Given the description of an element on the screen output the (x, y) to click on. 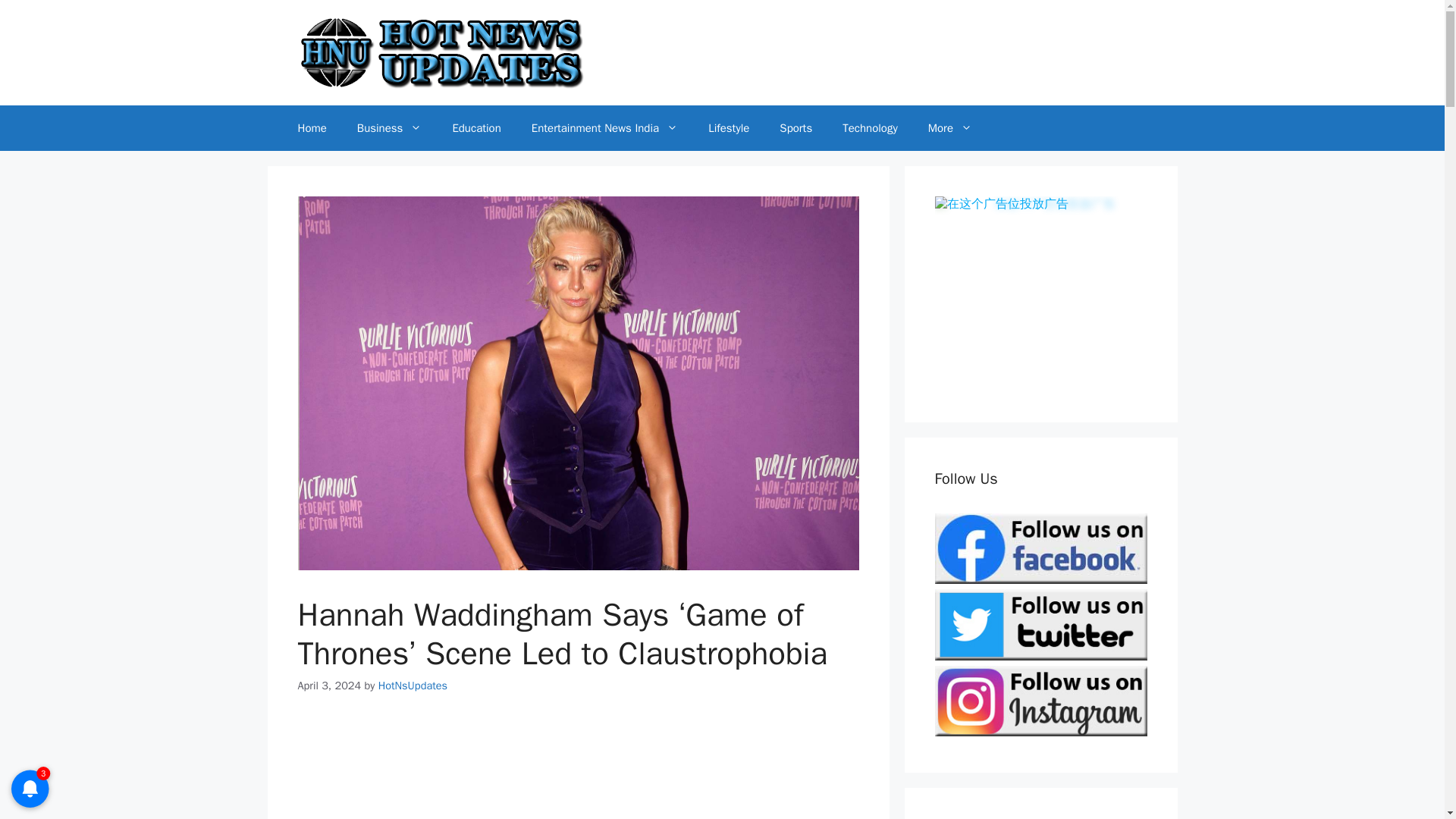
Technology (869, 127)
Entertainment News India (604, 127)
View all posts by HotNsUpdates (412, 685)
Education (475, 127)
Business (390, 127)
Advertisement (578, 769)
More (949, 127)
Home (311, 127)
Lifestyle (728, 127)
Sports (795, 127)
HotNsUpdates (412, 685)
